Given the description of an element on the screen output the (x, y) to click on. 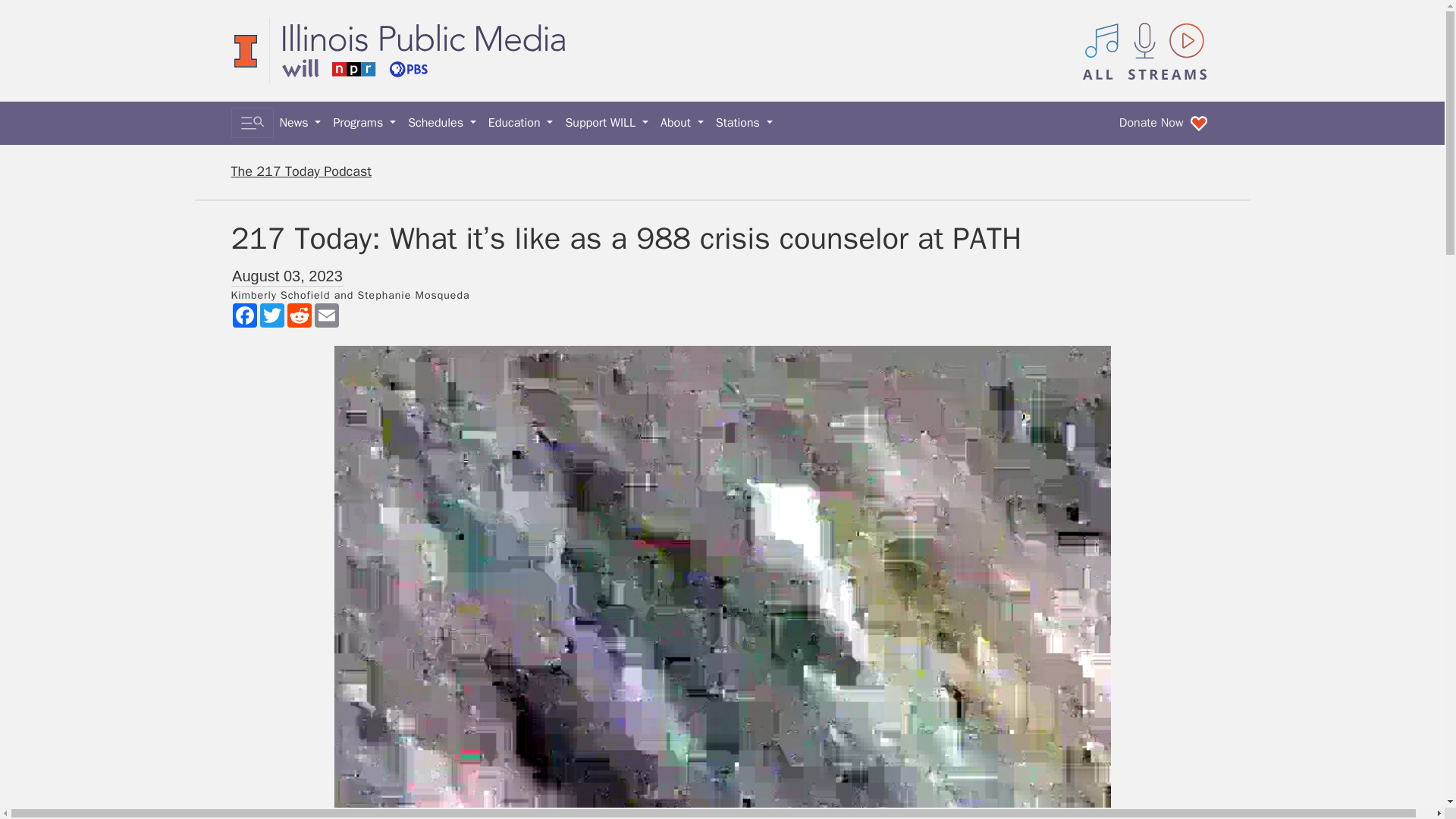
Programs (363, 122)
Schedules (441, 122)
News (299, 122)
Toggle search (251, 122)
All IPM content streams (1144, 50)
